Given the description of an element on the screen output the (x, y) to click on. 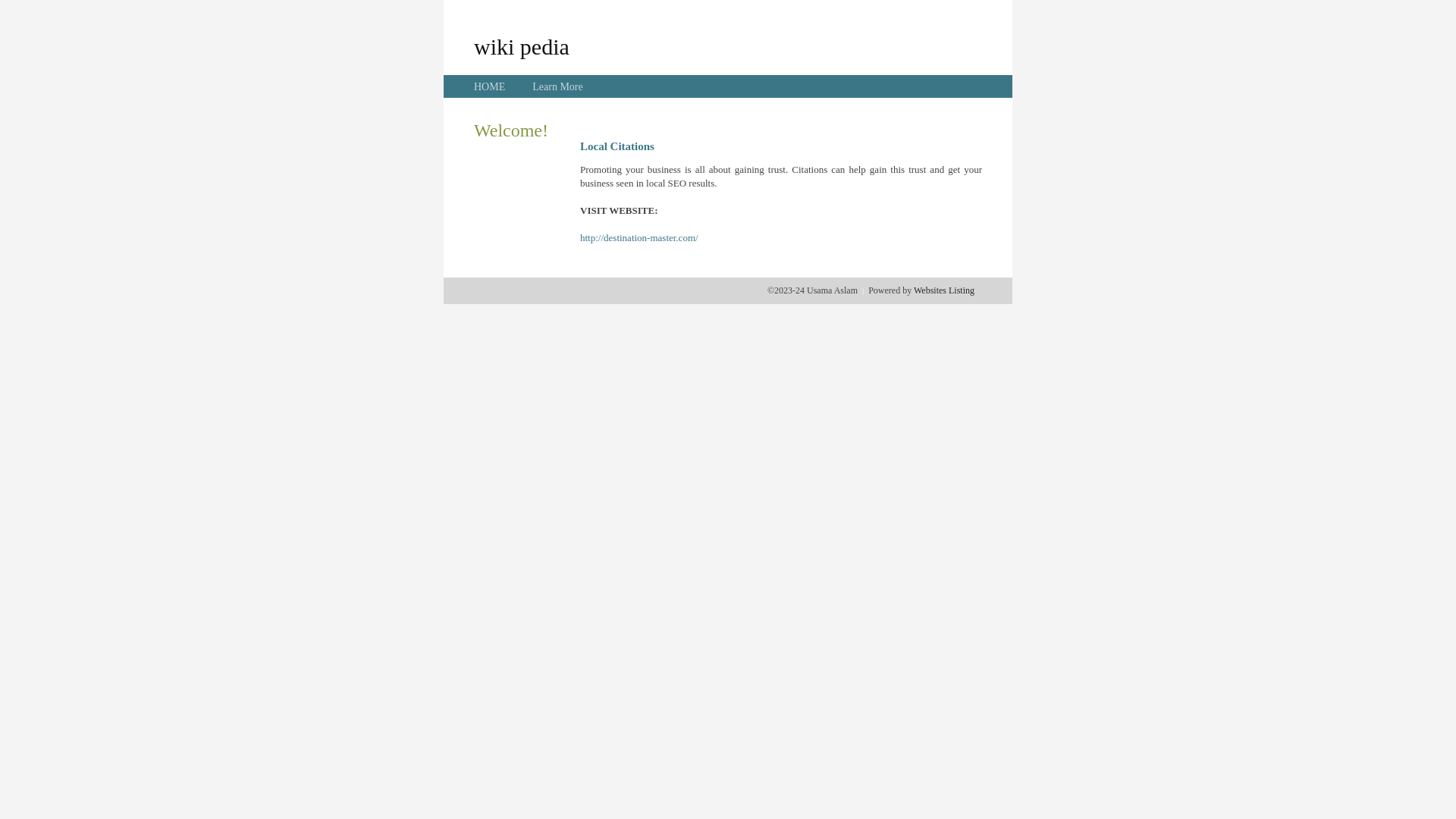
Websites Listing Element type: text (943, 290)
HOME Element type: text (489, 86)
wiki pedia Element type: text (521, 46)
Learn More Element type: text (557, 86)
http://destination-master.com/ Element type: text (639, 237)
